Given the description of an element on the screen output the (x, y) to click on. 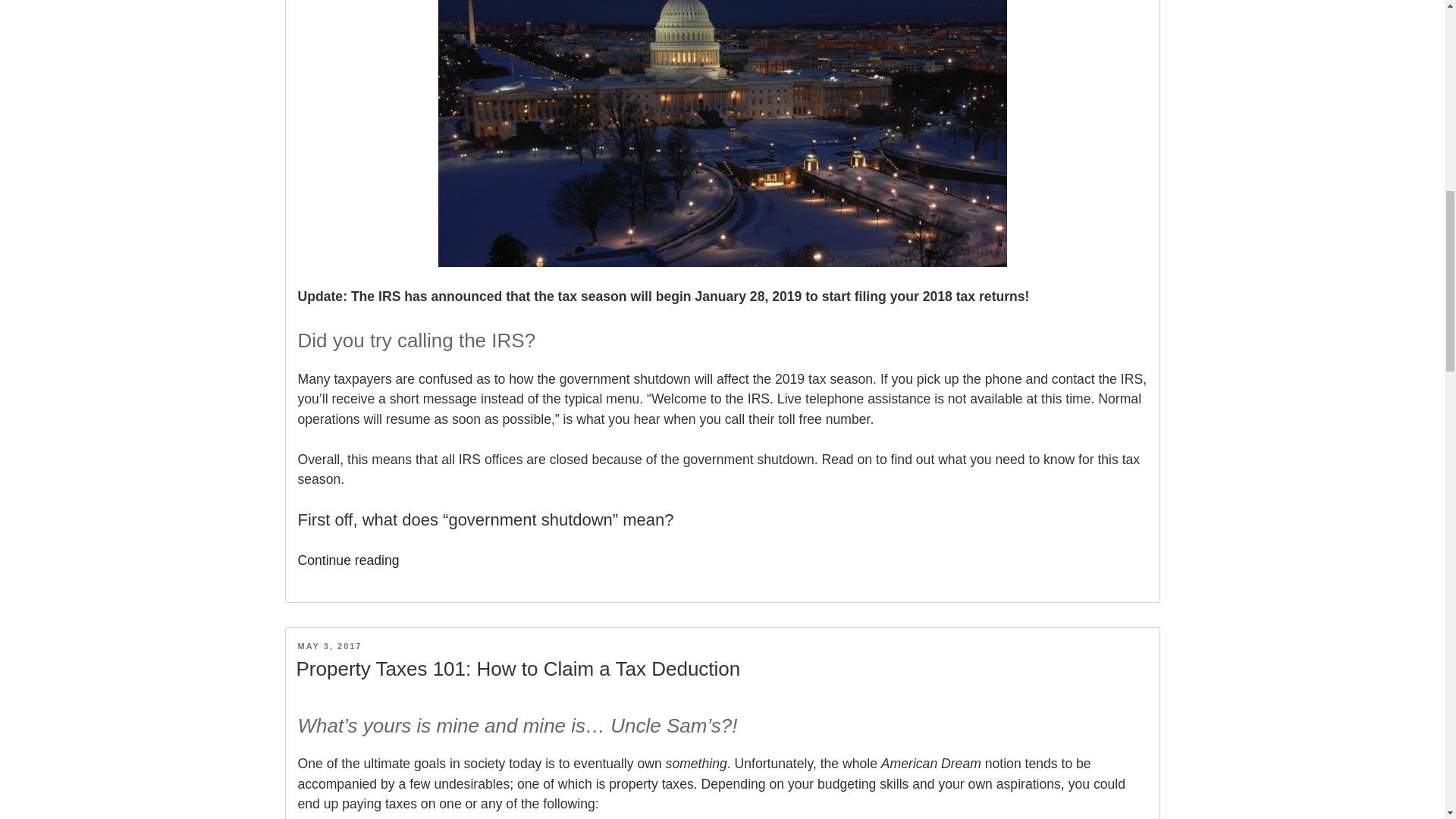
Property Taxes 101: How to Claim a Tax Deduction (517, 668)
MAY 3, 2017 (329, 645)
